Given the description of an element on the screen output the (x, y) to click on. 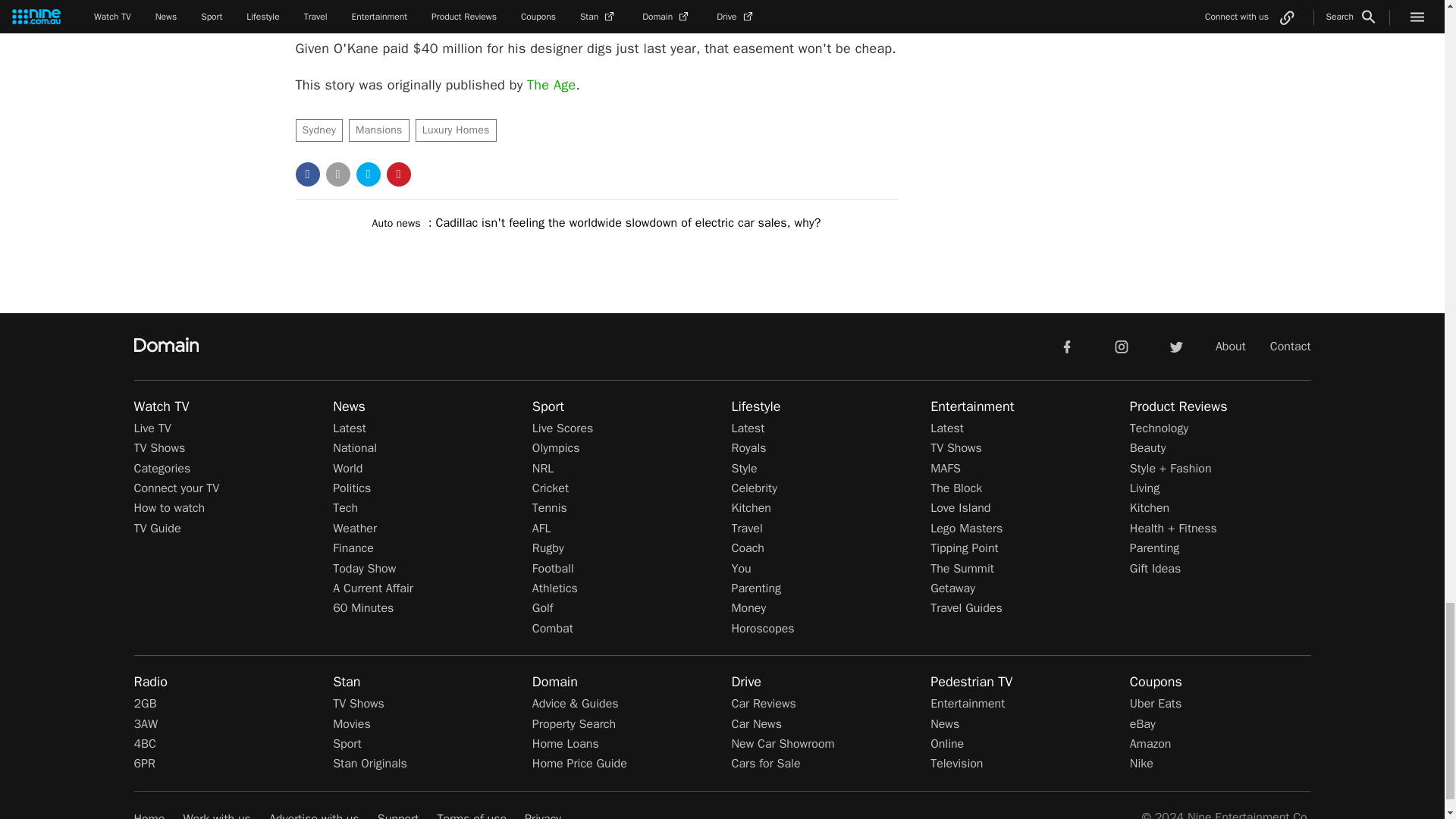
The Age (551, 84)
facebook (1066, 345)
Mansions (379, 129)
twitter (1175, 345)
instagram (1121, 345)
About (1230, 346)
Luxury Homes (455, 129)
Sydney (319, 129)
The Age (551, 84)
